Given the description of an element on the screen output the (x, y) to click on. 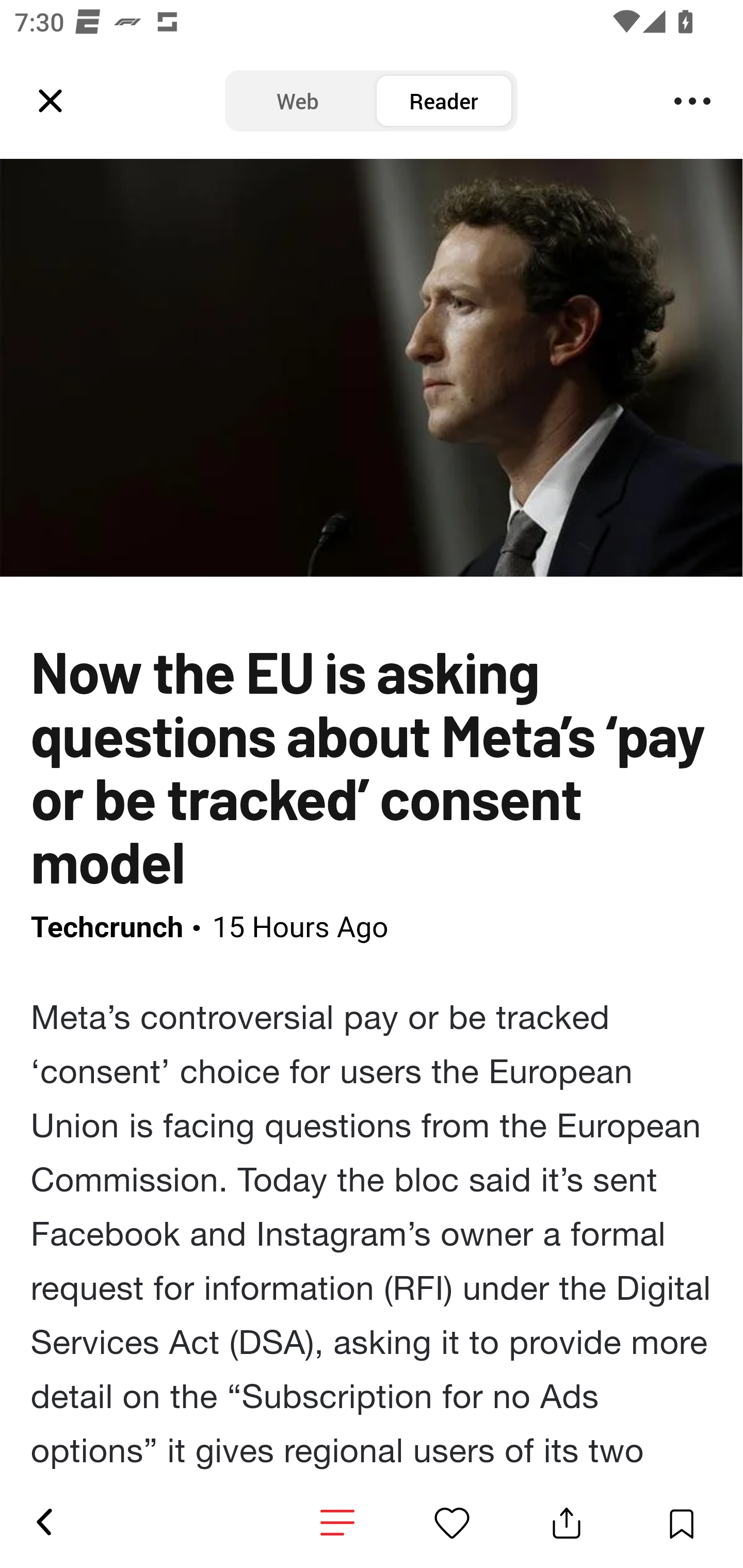
Leading Icon (50, 101)
Web (297, 101)
Menu (692, 101)
Back Button (43, 1523)
News Detail Emotion (451, 1523)
Share Button (566, 1523)
Save Button (680, 1523)
News Detail Emotion (337, 1523)
